Given the description of an element on the screen output the (x, y) to click on. 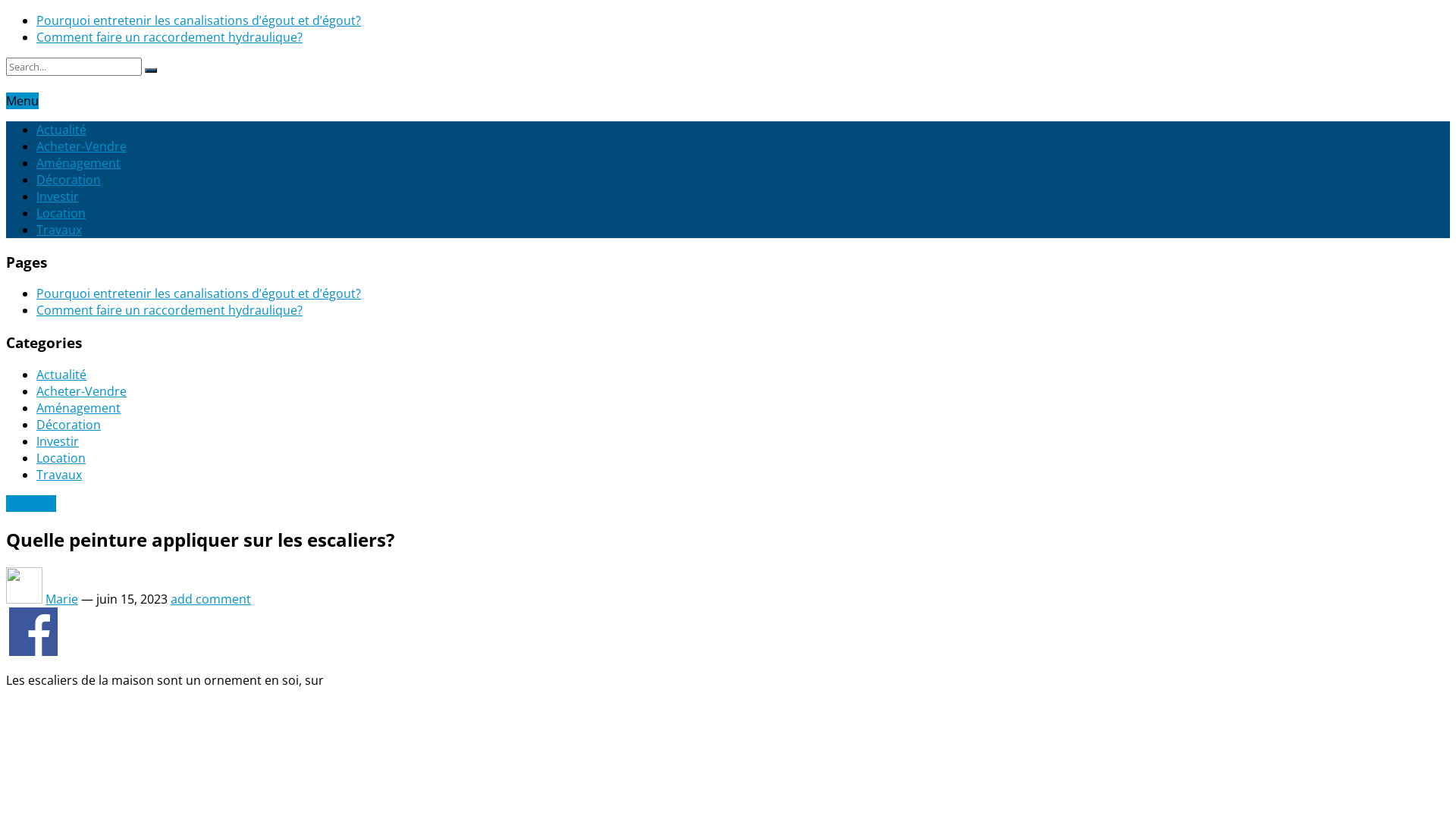
Location Element type: text (60, 212)
Marie Element type: text (61, 598)
Comment faire un raccordement hydraulique? Element type: text (169, 309)
Investir Element type: text (57, 196)
Acheter-Vendre Element type: text (81, 146)
Location Element type: text (60, 457)
Acheter-Vendre Element type: text (81, 390)
Comment faire un raccordement hydraulique? Element type: text (169, 36)
Investir Element type: text (57, 441)
Travaux Element type: text (58, 229)
Travaux Element type: text (58, 474)
add comment Element type: text (210, 598)
